Given the description of an element on the screen output the (x, y) to click on. 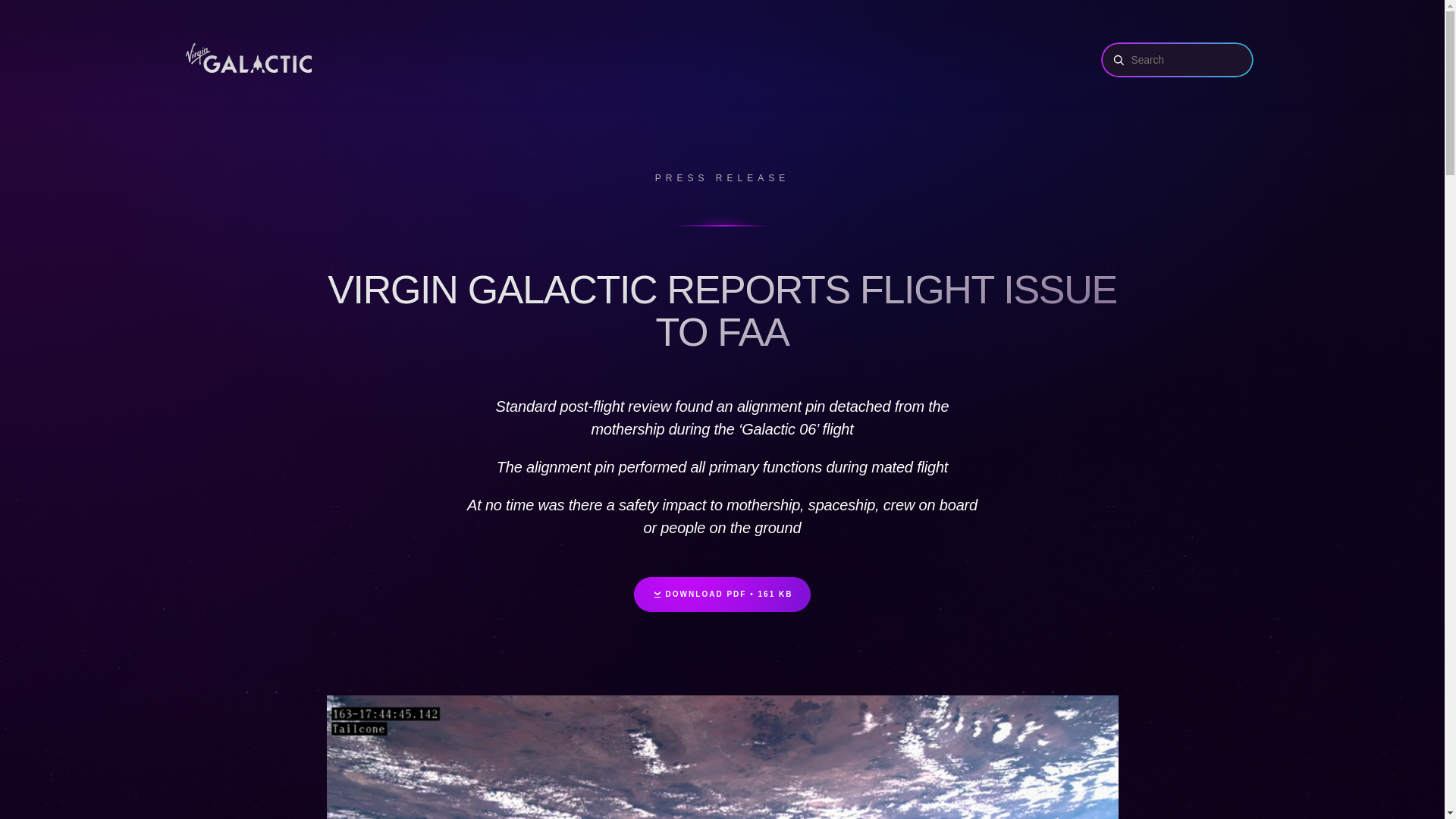
Virgin Galactic (251, 59)
